Given the description of an element on the screen output the (x, y) to click on. 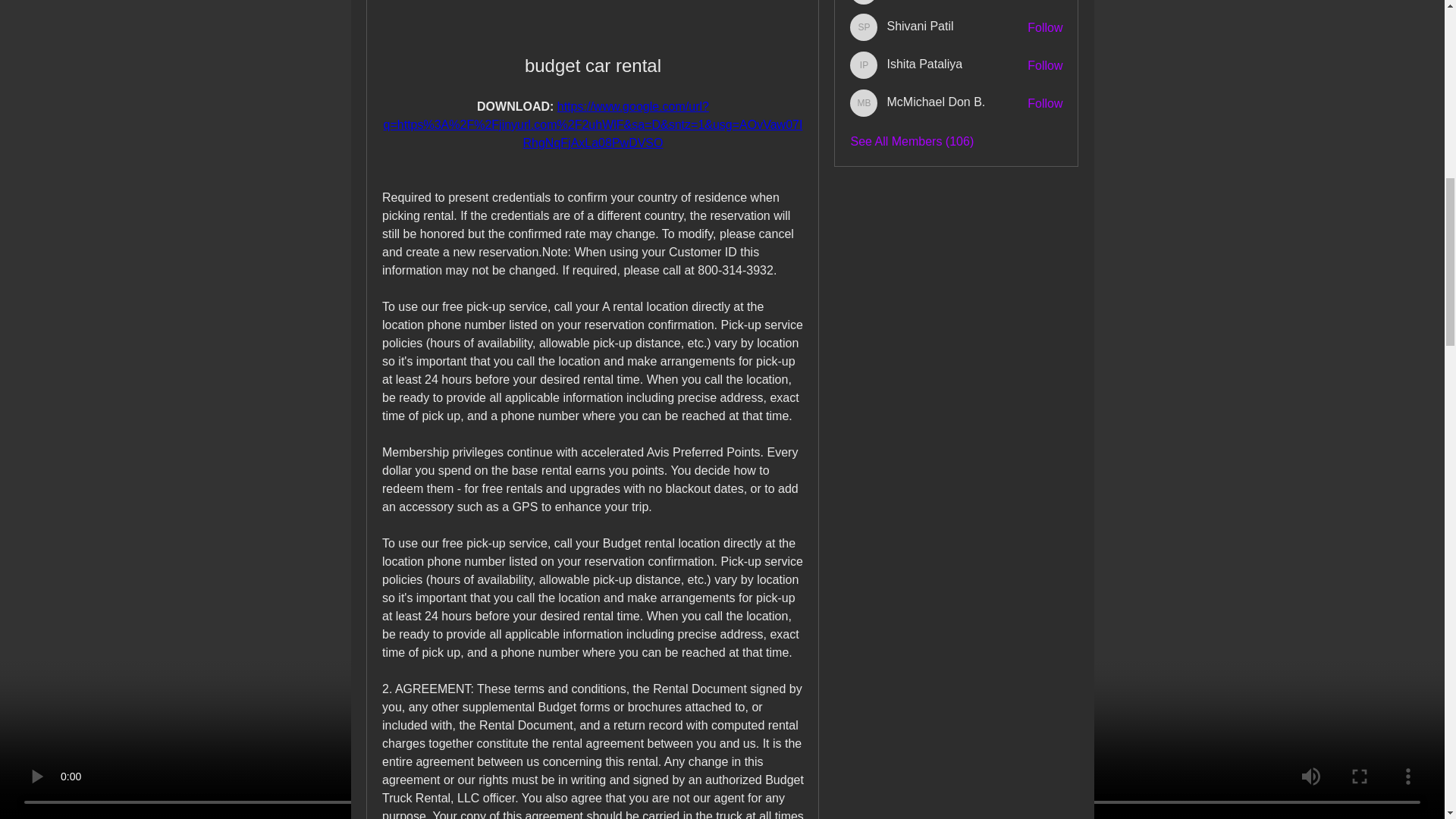
Ishita Pataliya (863, 64)
Shivani Patil (863, 26)
Follow (1044, 103)
heulwenletitia (863, 2)
Follow (1044, 27)
McMichael Don B. (863, 103)
Follow (1044, 65)
